Given the description of an element on the screen output the (x, y) to click on. 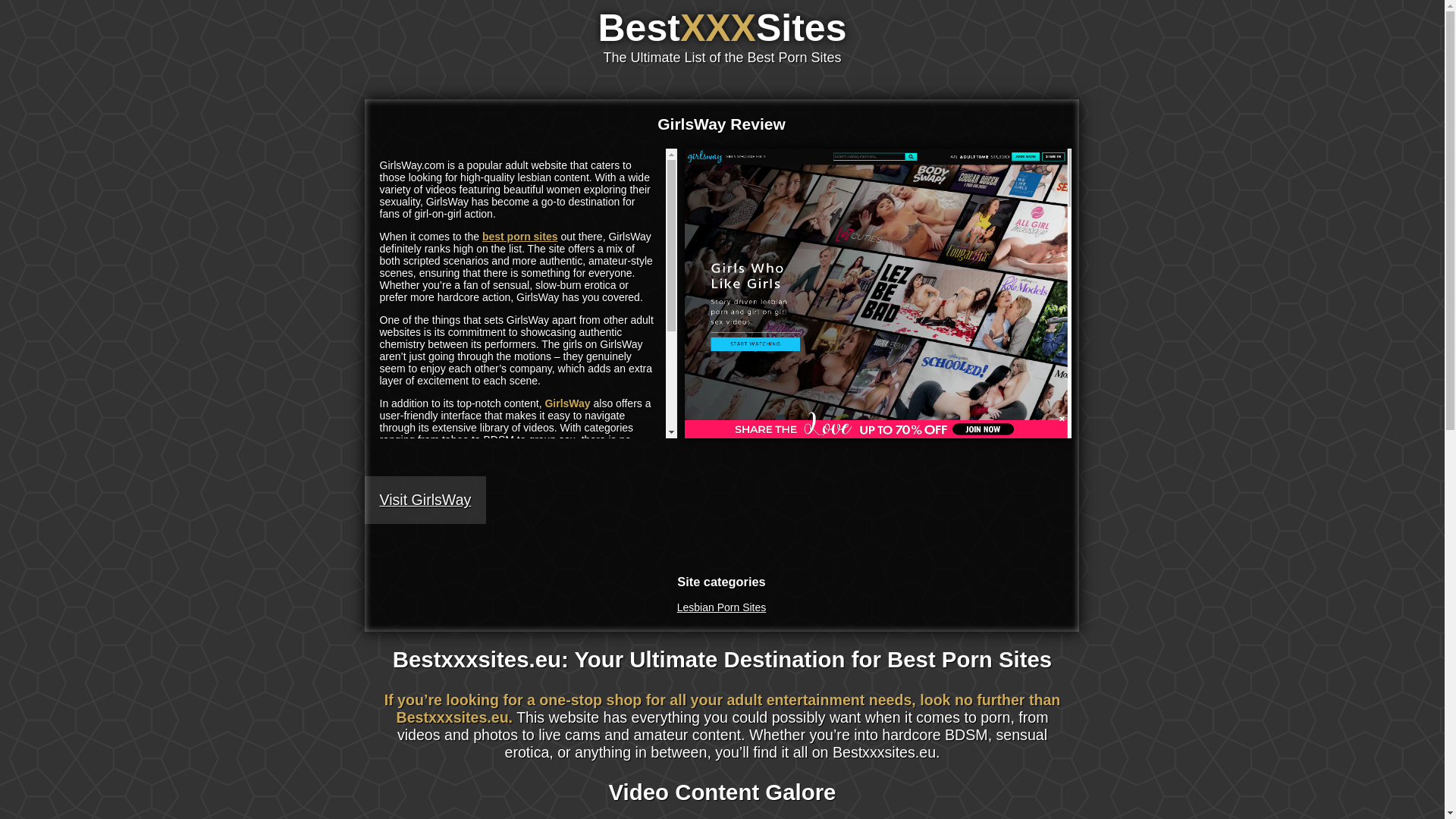
BestXXXSites (722, 27)
Lesbian Porn Sites (722, 607)
best porn sites (519, 236)
Visit GirlsWay (425, 499)
